Given the description of an element on the screen output the (x, y) to click on. 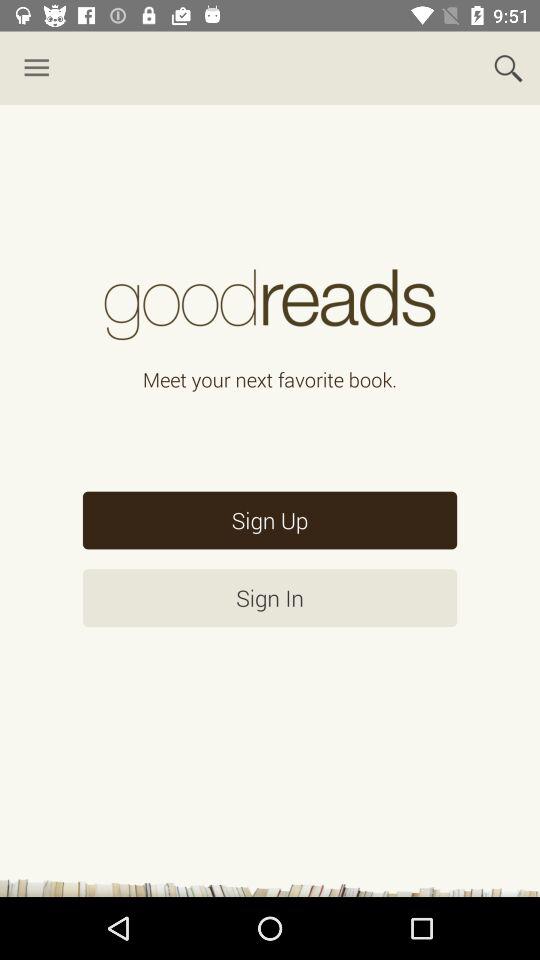
click item at the top right corner (508, 67)
